Given the description of an element on the screen output the (x, y) to click on. 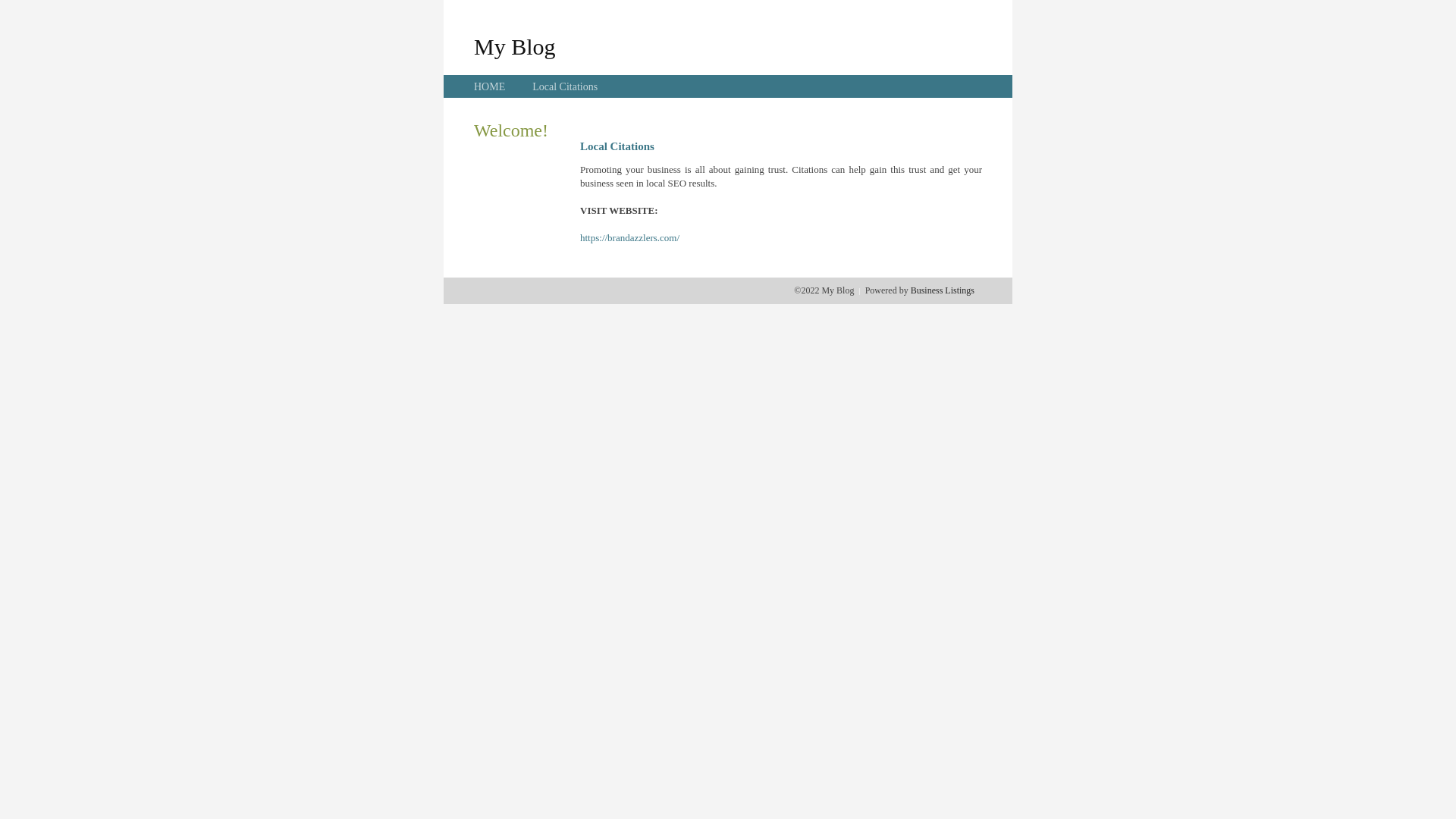
https://brandazzlers.com/ Element type: text (629, 237)
Business Listings Element type: text (942, 290)
Local Citations Element type: text (564, 86)
My Blog Element type: text (514, 46)
HOME Element type: text (489, 86)
